Given the description of an element on the screen output the (x, y) to click on. 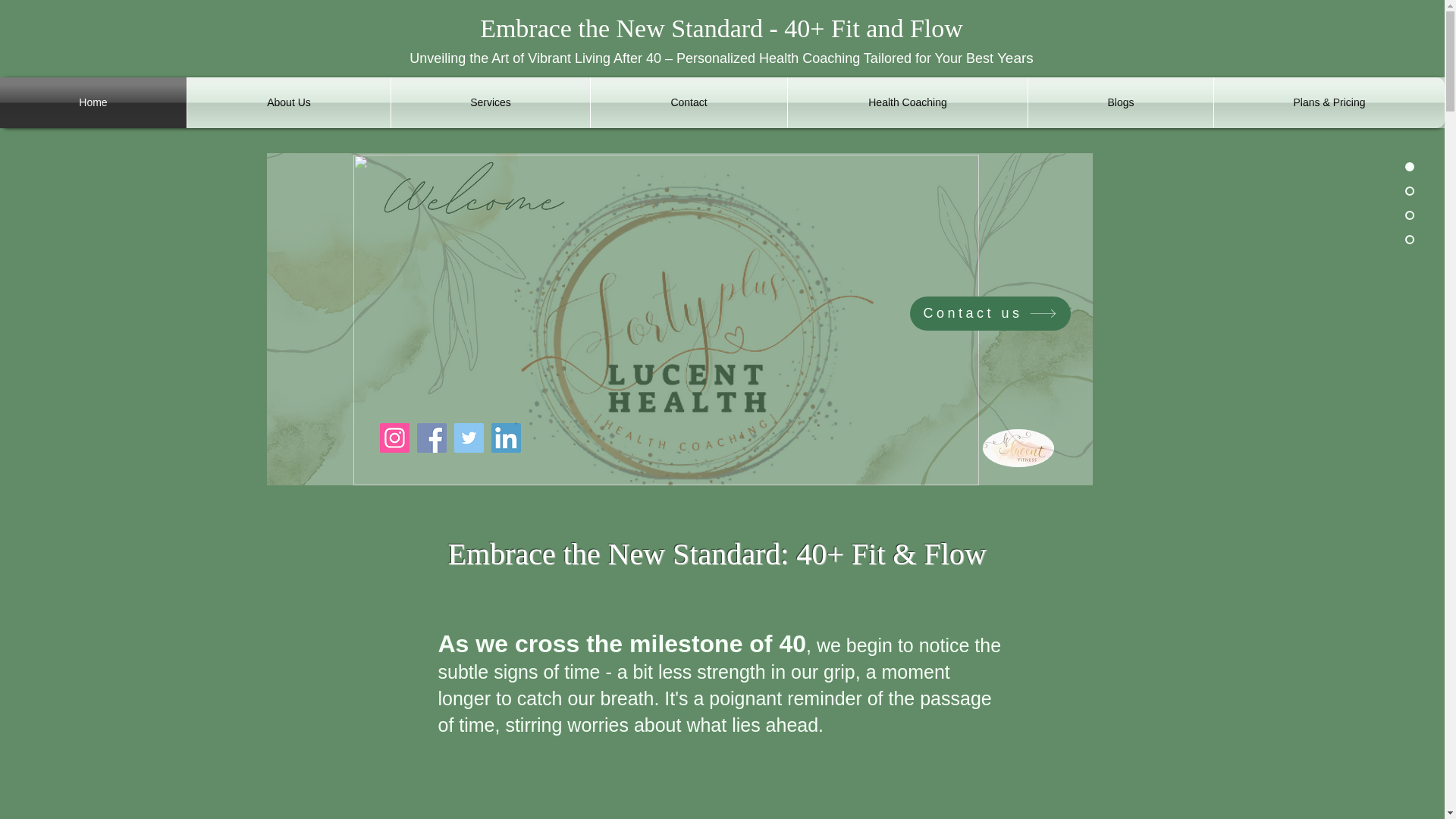
Lucent Fitness logo L.jpg (1018, 447)
About Us (288, 101)
Contact (689, 101)
Home (93, 101)
Health Coaching (907, 101)
Services (490, 101)
Blogs (1119, 101)
Contact us (990, 313)
